Given the description of an element on the screen output the (x, y) to click on. 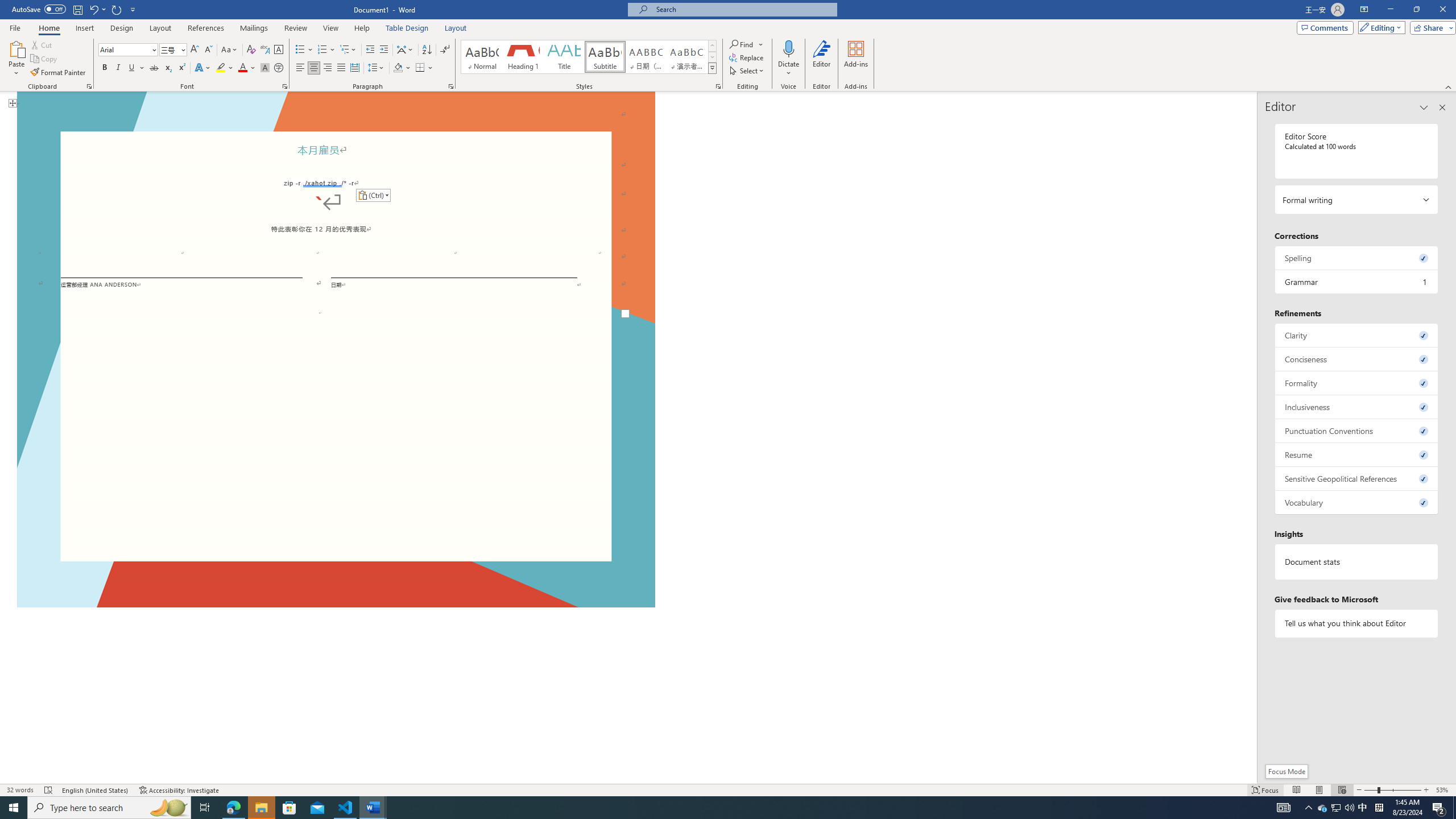
Zoom 53% (1443, 790)
Grammar, 1 issue. Press space or enter to review items. (1356, 281)
